Given the description of an element on the screen output the (x, y) to click on. 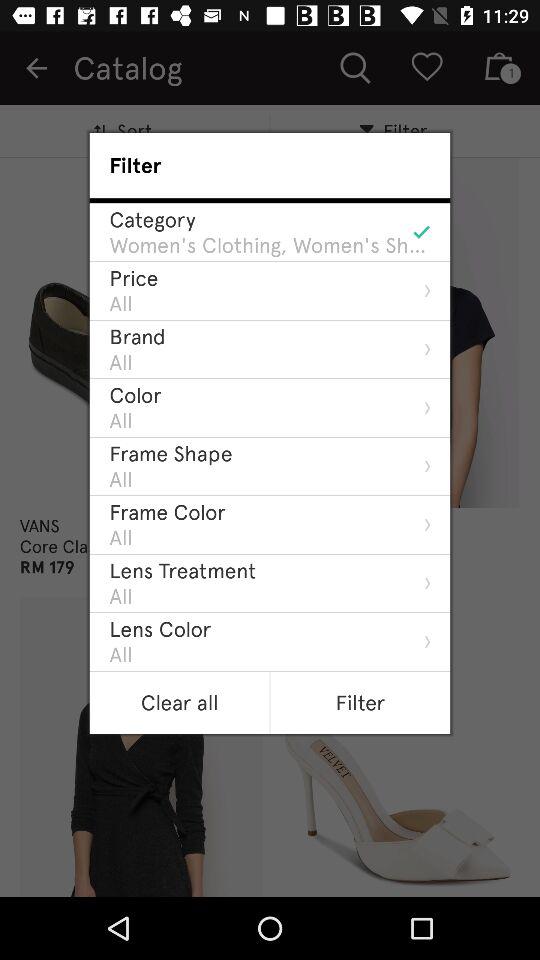
choose the icon above all item (170, 453)
